Given the description of an element on the screen output the (x, y) to click on. 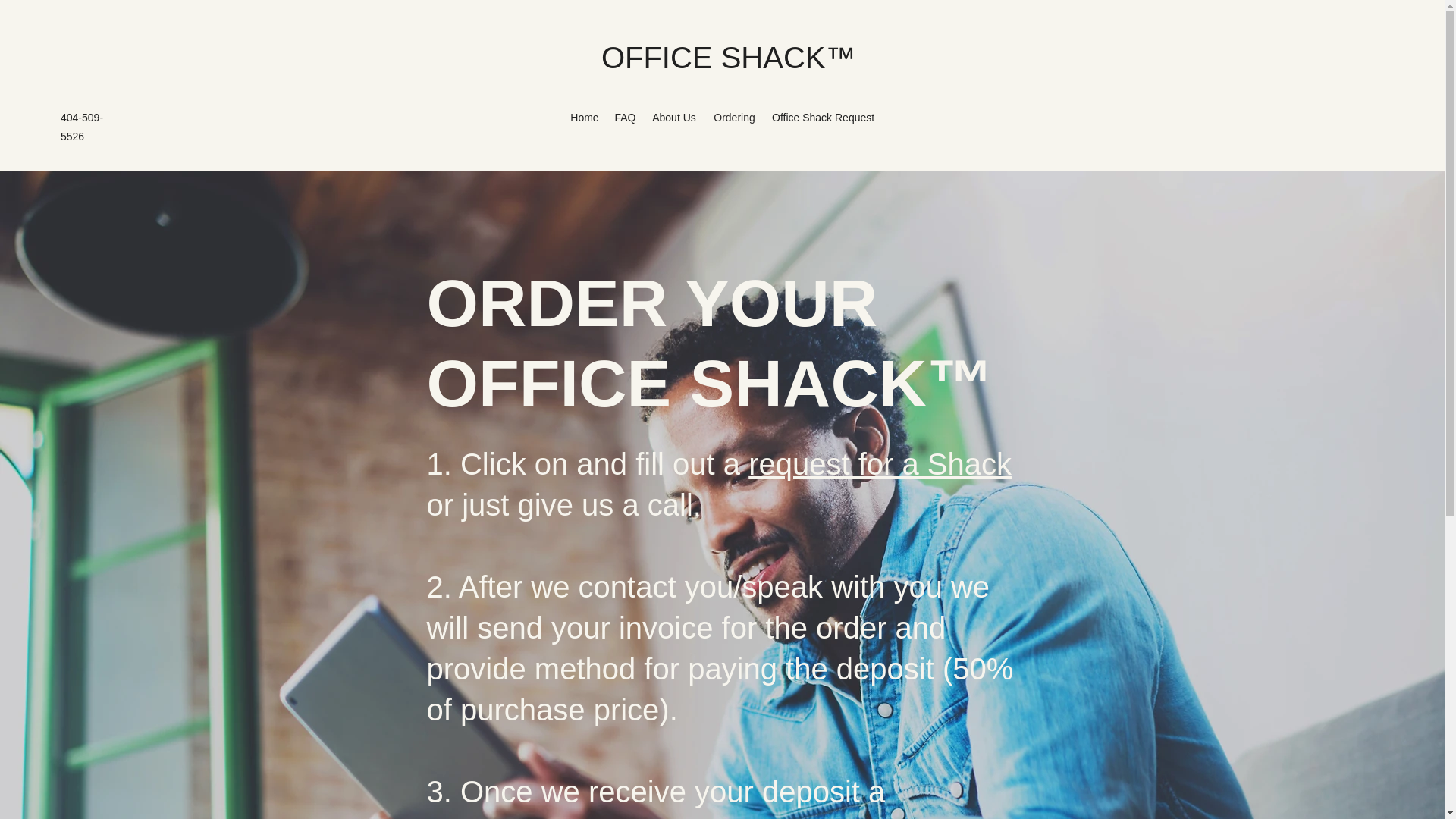
request for a Shack (879, 463)
Ordering (734, 117)
FAQ (625, 117)
Home (584, 117)
About Us (673, 117)
Office Shack Request (823, 117)
